Given the description of an element on the screen output the (x, y) to click on. 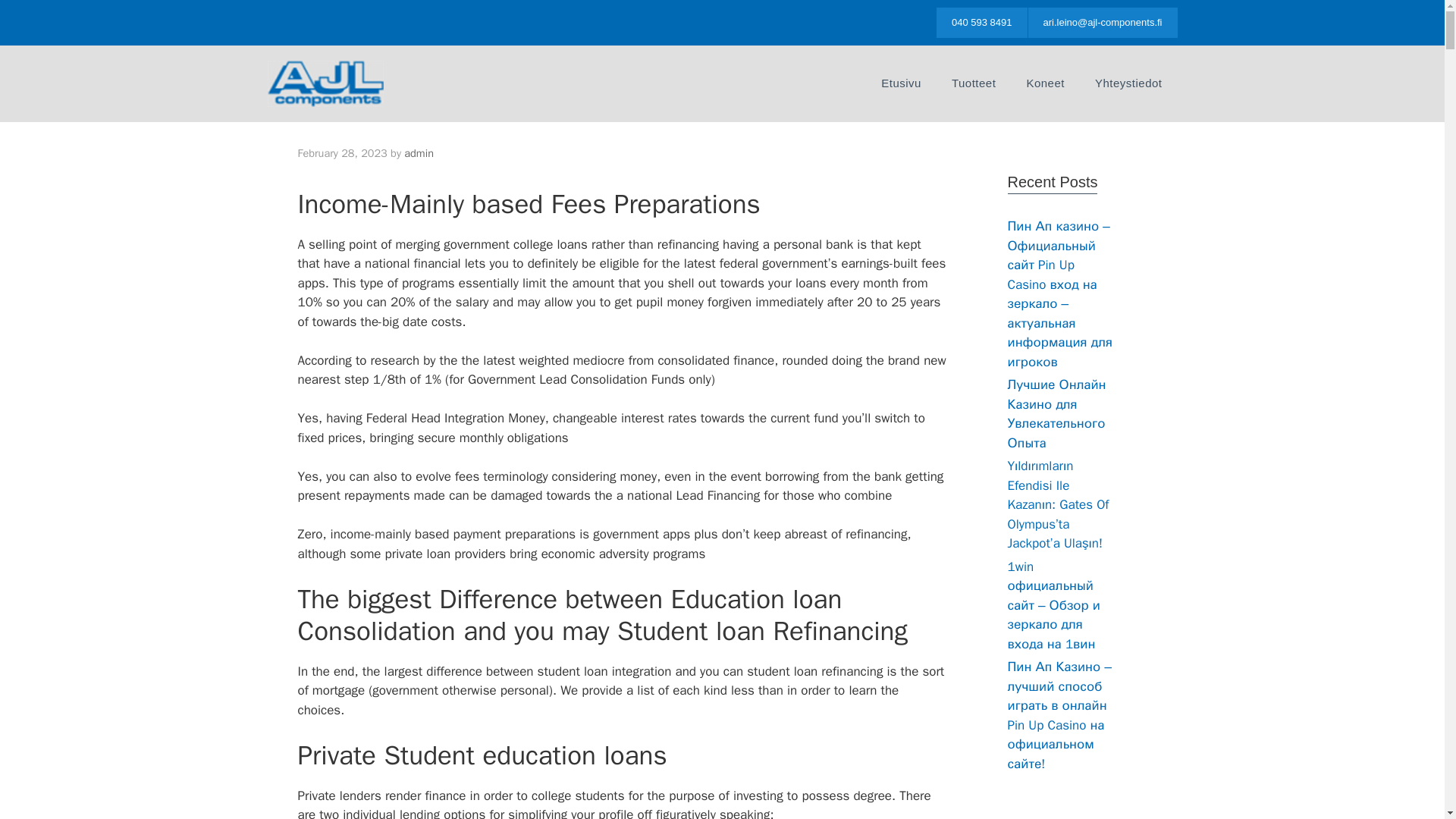
Koneet (1045, 83)
admin (418, 152)
View all posts by admin (418, 152)
Yhteystiedot (1128, 83)
040 593 8491 (981, 22)
Etusivu (901, 83)
Tuotteet (973, 83)
